Given the description of an element on the screen output the (x, y) to click on. 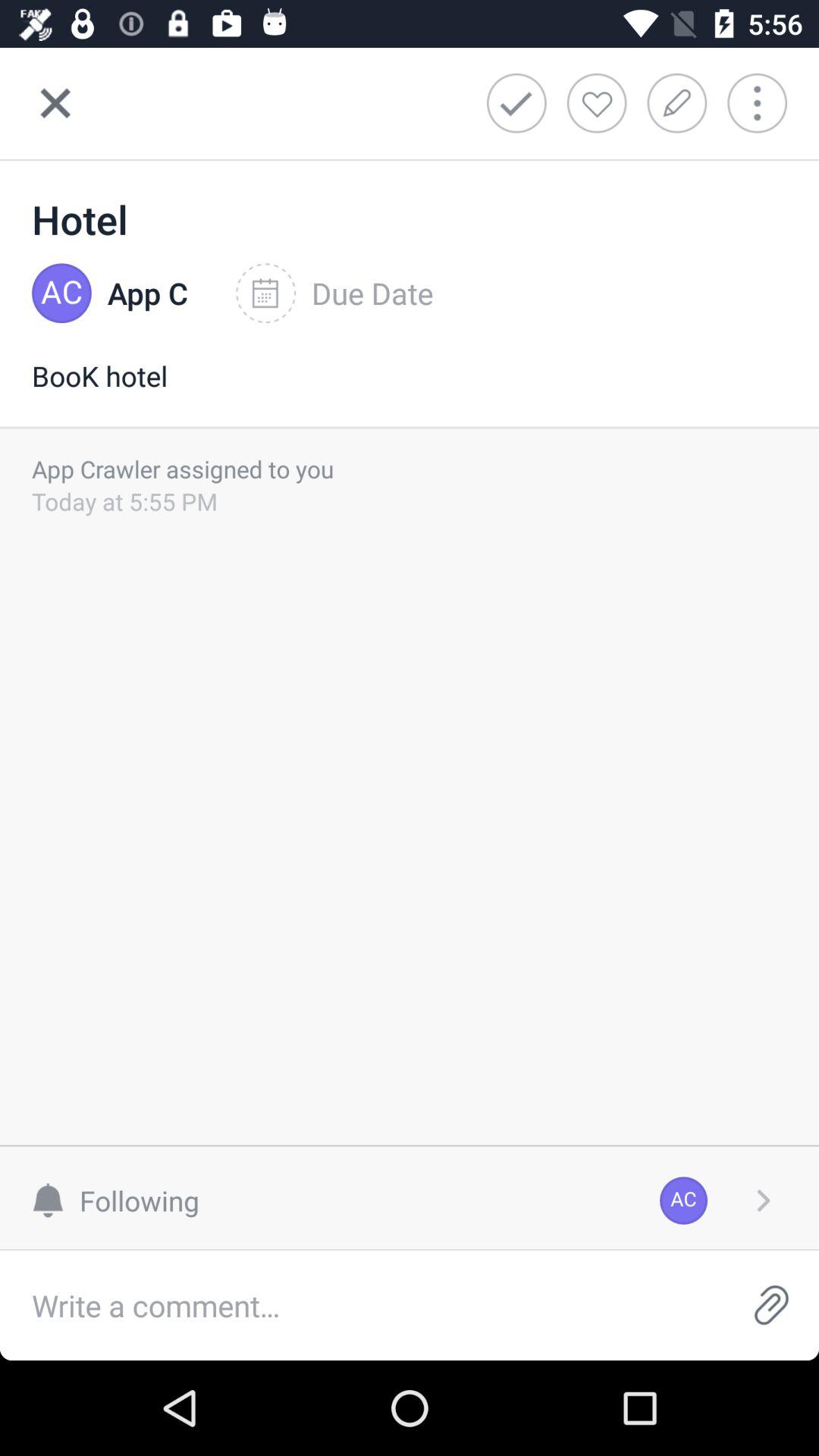
add note (682, 103)
